Given the description of an element on the screen output the (x, y) to click on. 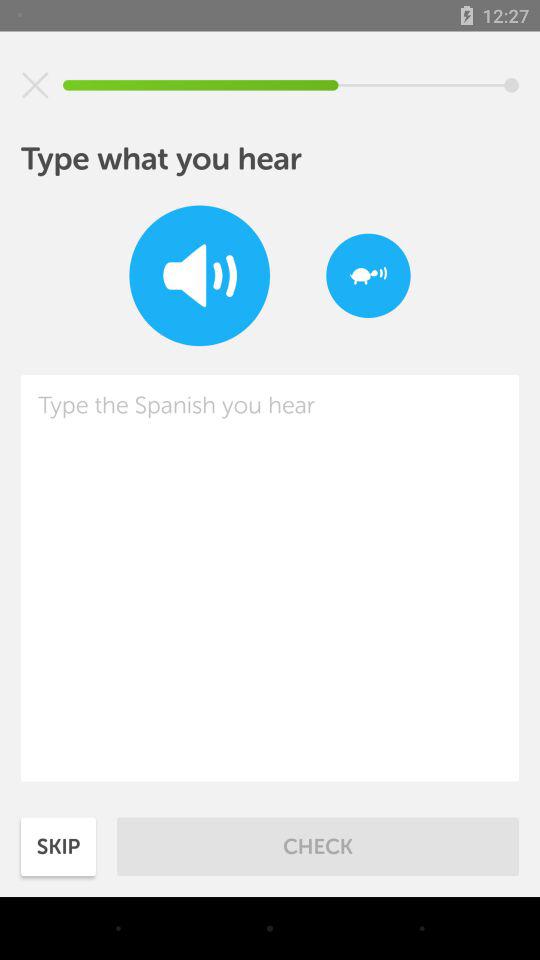
flip until the skip (58, 846)
